Given the description of an element on the screen output the (x, y) to click on. 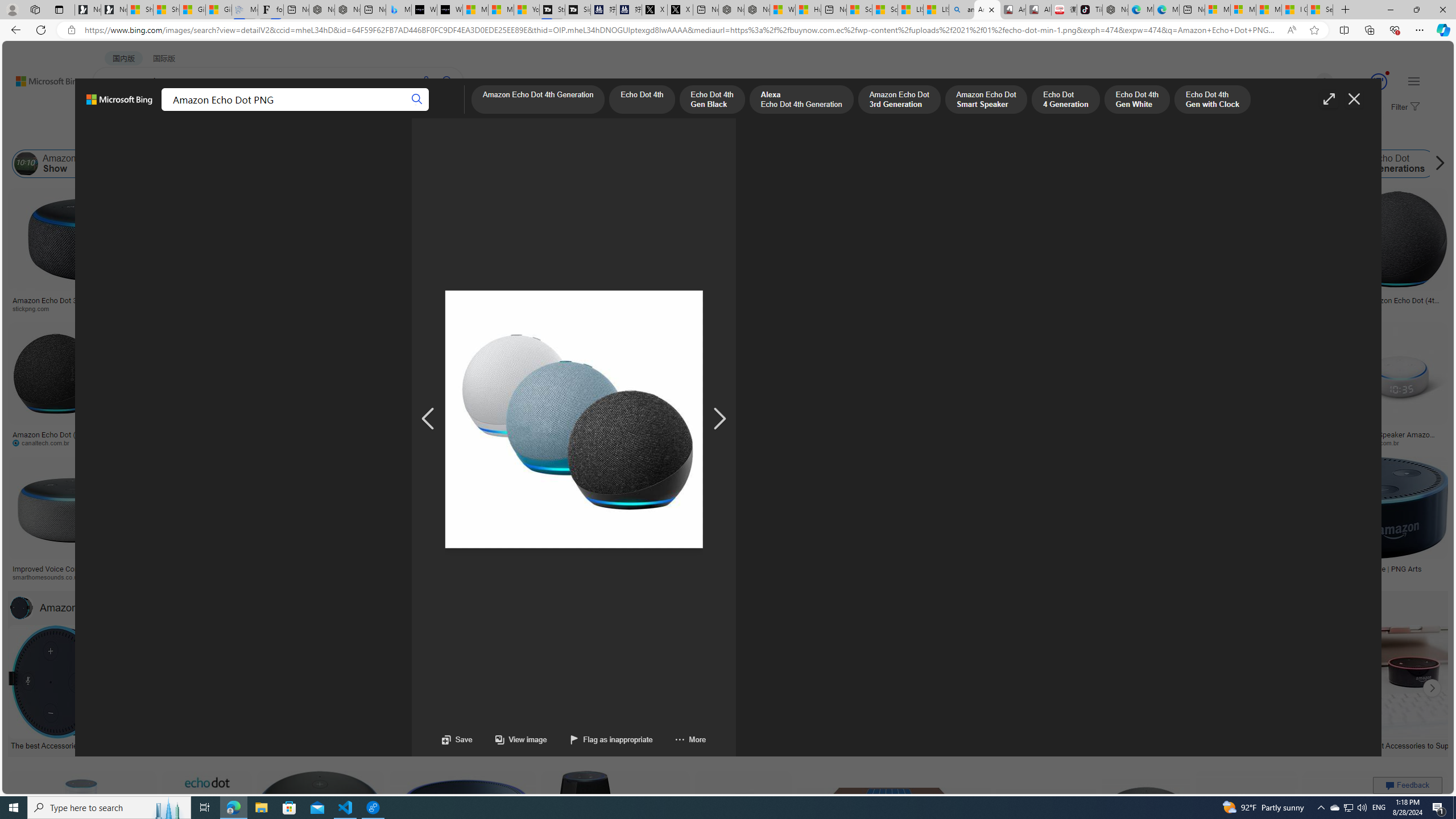
Flag as inappropriate (599, 739)
winmaec.com (1148, 442)
WEB (114, 111)
IMAGES (156, 112)
Amazon Echo 2nd Generation (608, 163)
Alexa Dot Transparent Image | PNG Artspngarts.comSave (1366, 521)
